Given the description of an element on the screen output the (x, y) to click on. 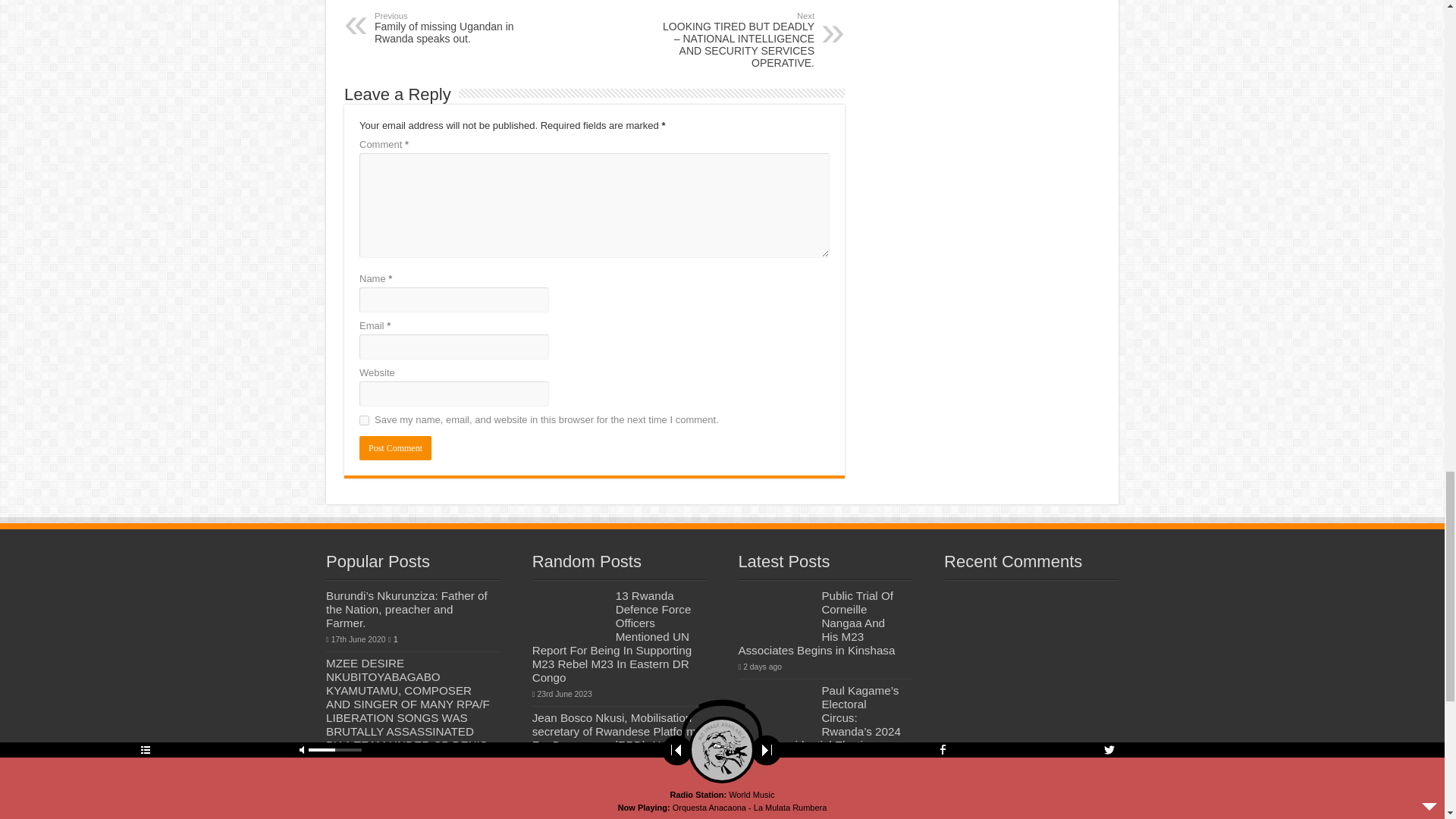
Post Comment (394, 447)
yes (364, 420)
